Given the description of an element on the screen output the (x, y) to click on. 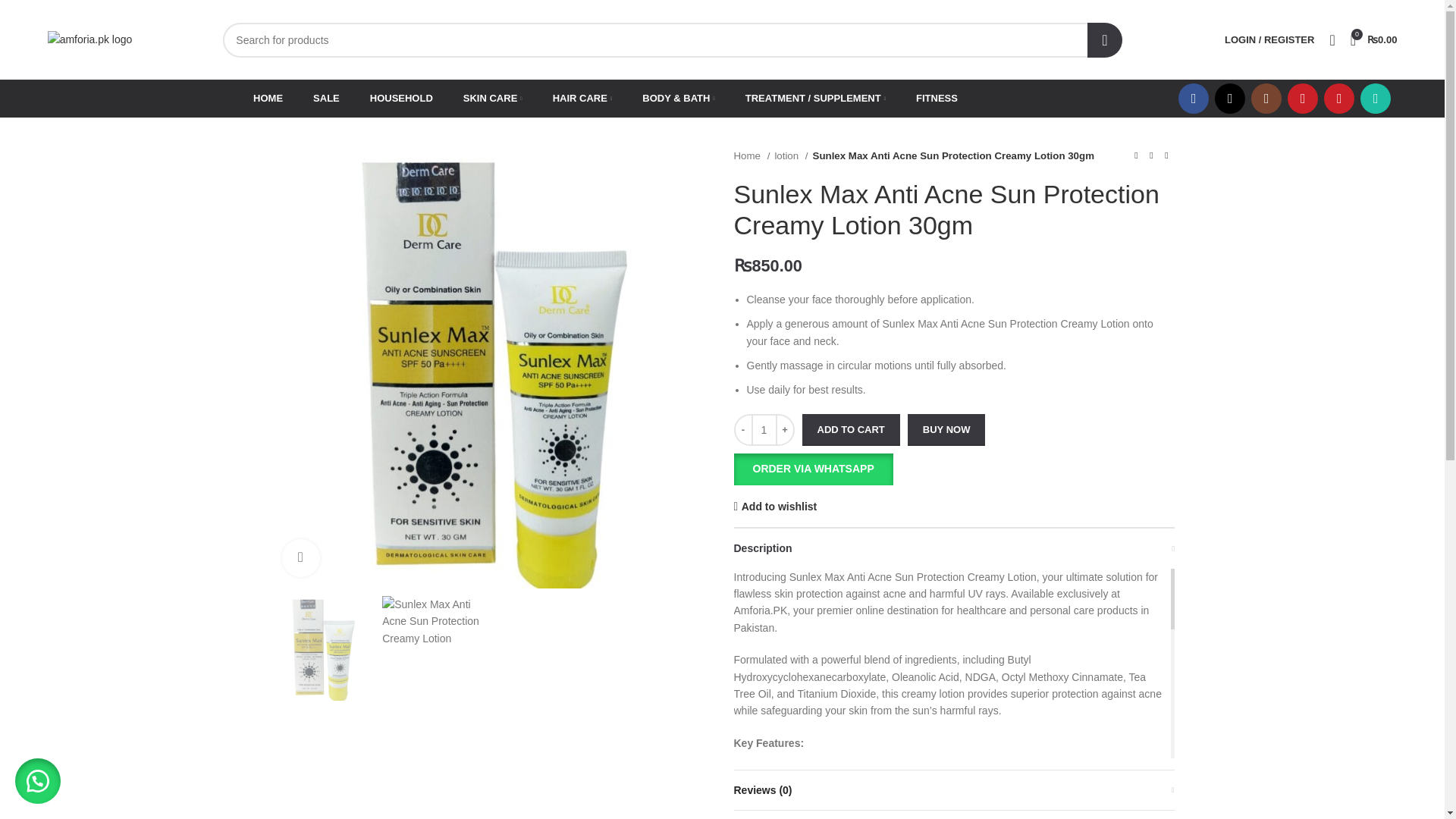
Shopping cart (1373, 39)
My account (1269, 39)
SKIN CARE (492, 98)
HOME (267, 98)
SEARCH (1104, 39)
Search for products (672, 39)
HOUSEHOLD (400, 98)
